Given the description of an element on the screen output the (x, y) to click on. 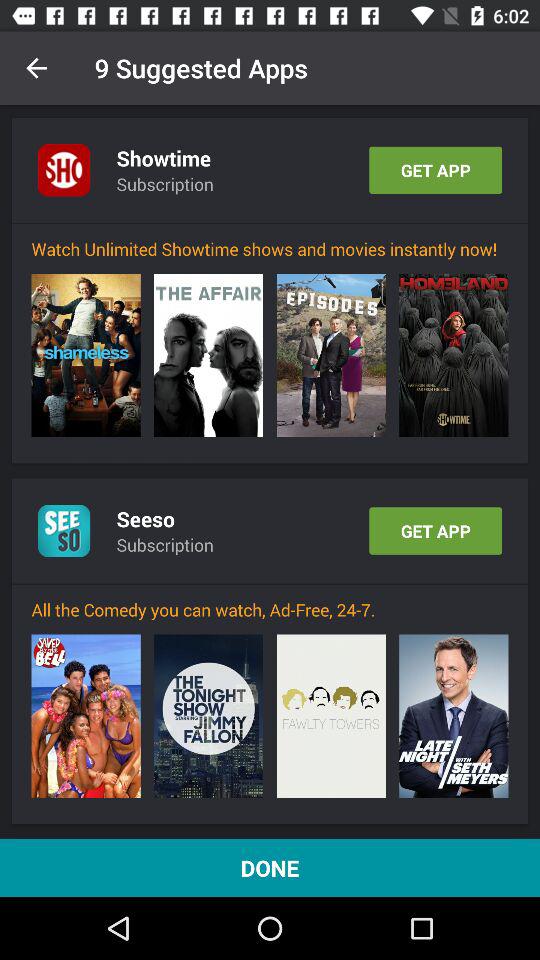
open the item below the watch unlimited showtime (85, 355)
